Given the description of an element on the screen output the (x, y) to click on. 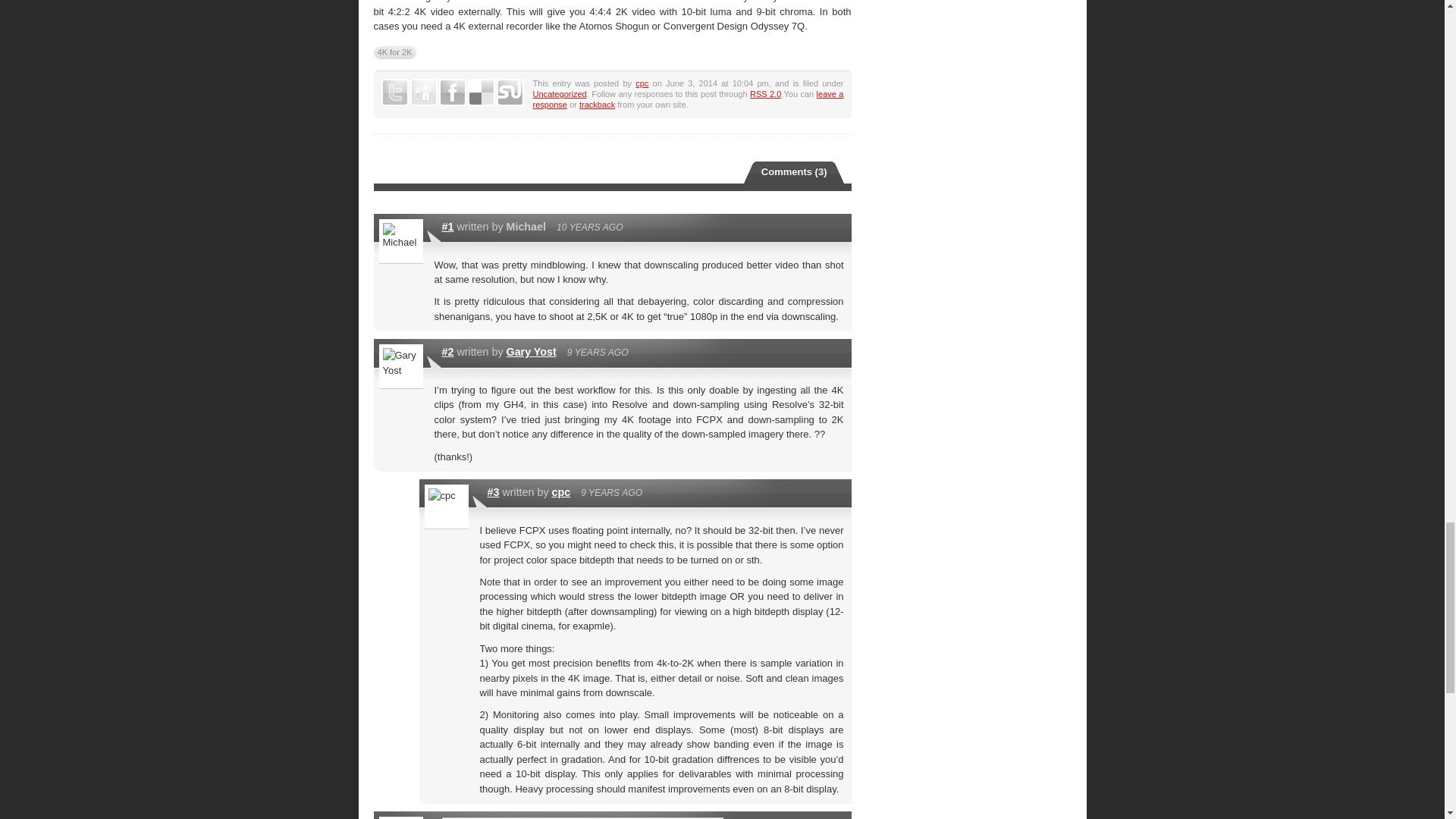
Share this post on Facebook (451, 92)
Share this post on Twitter (393, 92)
RSS 2.0 (764, 93)
4K for 2K (393, 51)
Uncategorized (559, 93)
cpc (560, 491)
Posts by cpc  (640, 82)
Share this post on Delicious (480, 92)
RSS 2.0 (764, 93)
Share this post on Digg (422, 92)
